Given the description of an element on the screen output the (x, y) to click on. 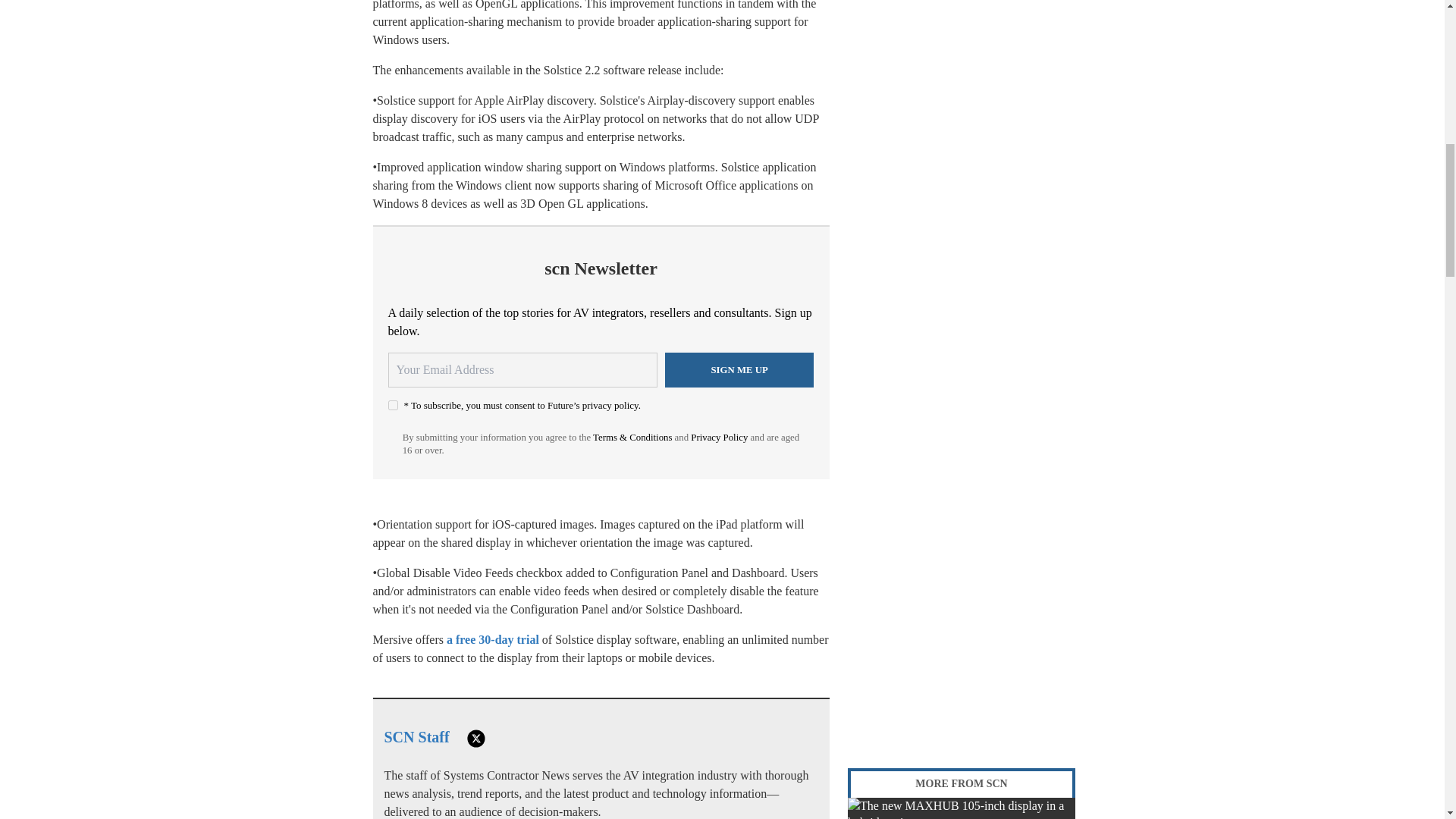
Startling Numbers on Hybrid Suggest More Work to Be Done (961, 808)
Sign me up (739, 369)
Privacy Policy (719, 437)
SCN Staff (416, 736)
on (392, 405)
Sign me up (739, 369)
a free 30-day trial (492, 639)
